Given the description of an element on the screen output the (x, y) to click on. 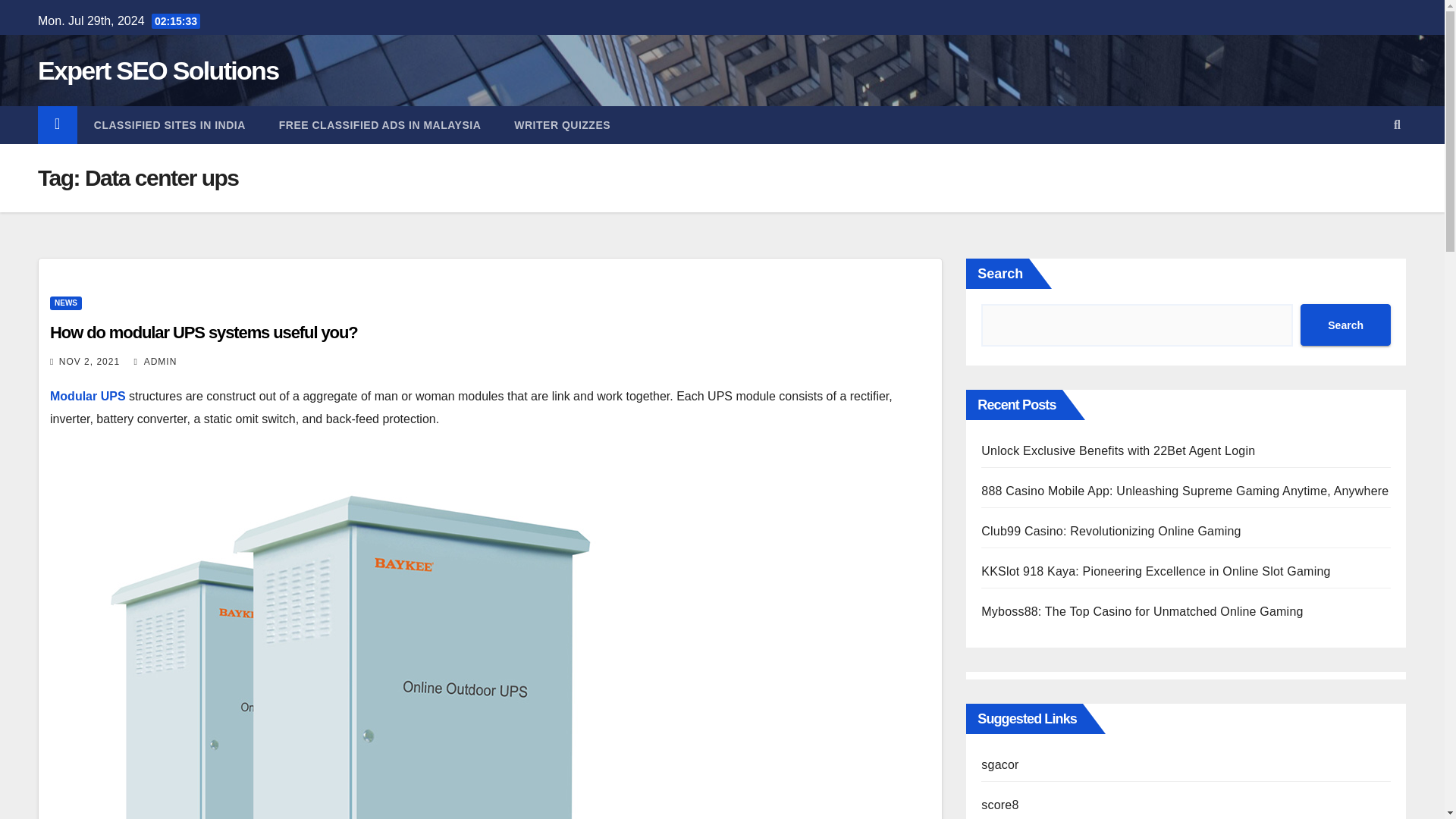
score8 (999, 804)
Modular UPS (87, 395)
Search (1345, 324)
FREE CLASSIFIED ADS IN MALAYSIA (379, 125)
CLASSIFIED SITES IN INDIA (169, 125)
KKSlot 918 Kaya: Pioneering Excellence in Online Slot Gaming (1155, 571)
Free Classified Ads in Malaysia (379, 125)
NOV 2, 2021 (89, 361)
ADMIN (155, 361)
